Given the description of an element on the screen output the (x, y) to click on. 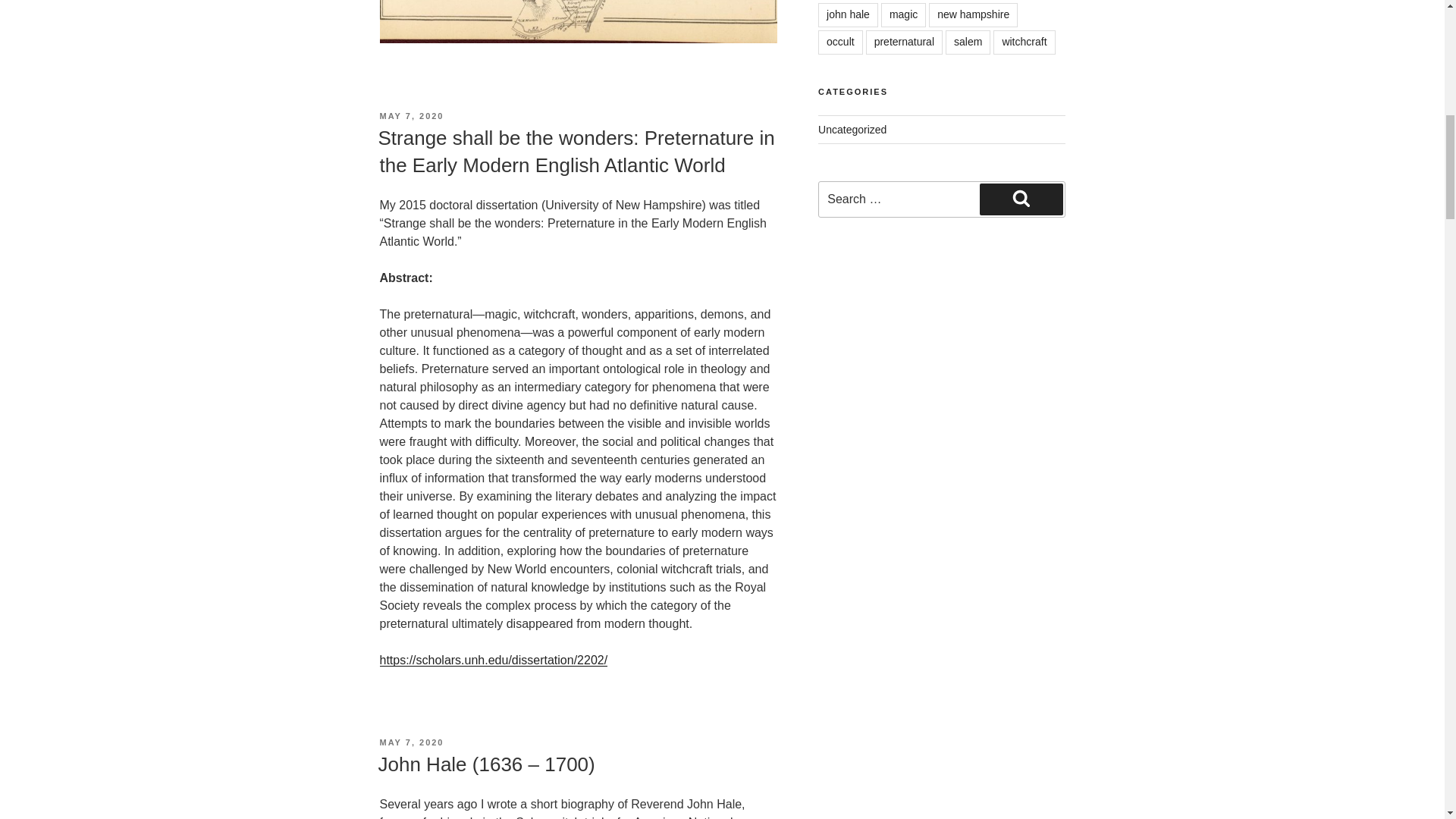
MAY 7, 2020 (411, 115)
MAY 7, 2020 (411, 741)
